Given the description of an element on the screen output the (x, y) to click on. 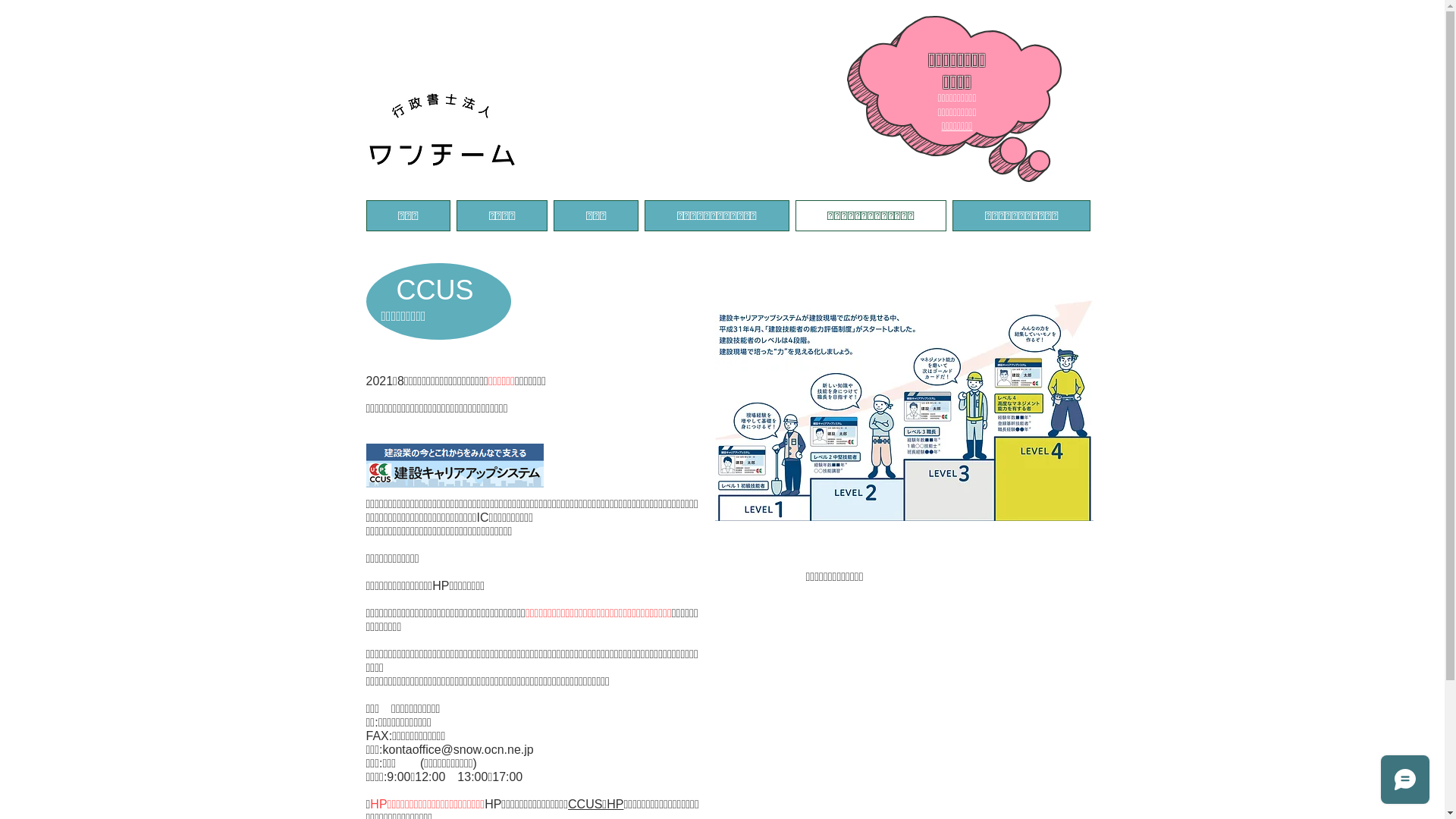
kontaoffice@snow.ocn.ne.jp Element type: text (457, 749)
2020June_Today2.jpg Element type: hover (903, 409)
53304536.png Element type: hover (441, 130)
ccus_banner01.png Element type: hover (453, 465)
